Given the description of an element on the screen output the (x, y) to click on. 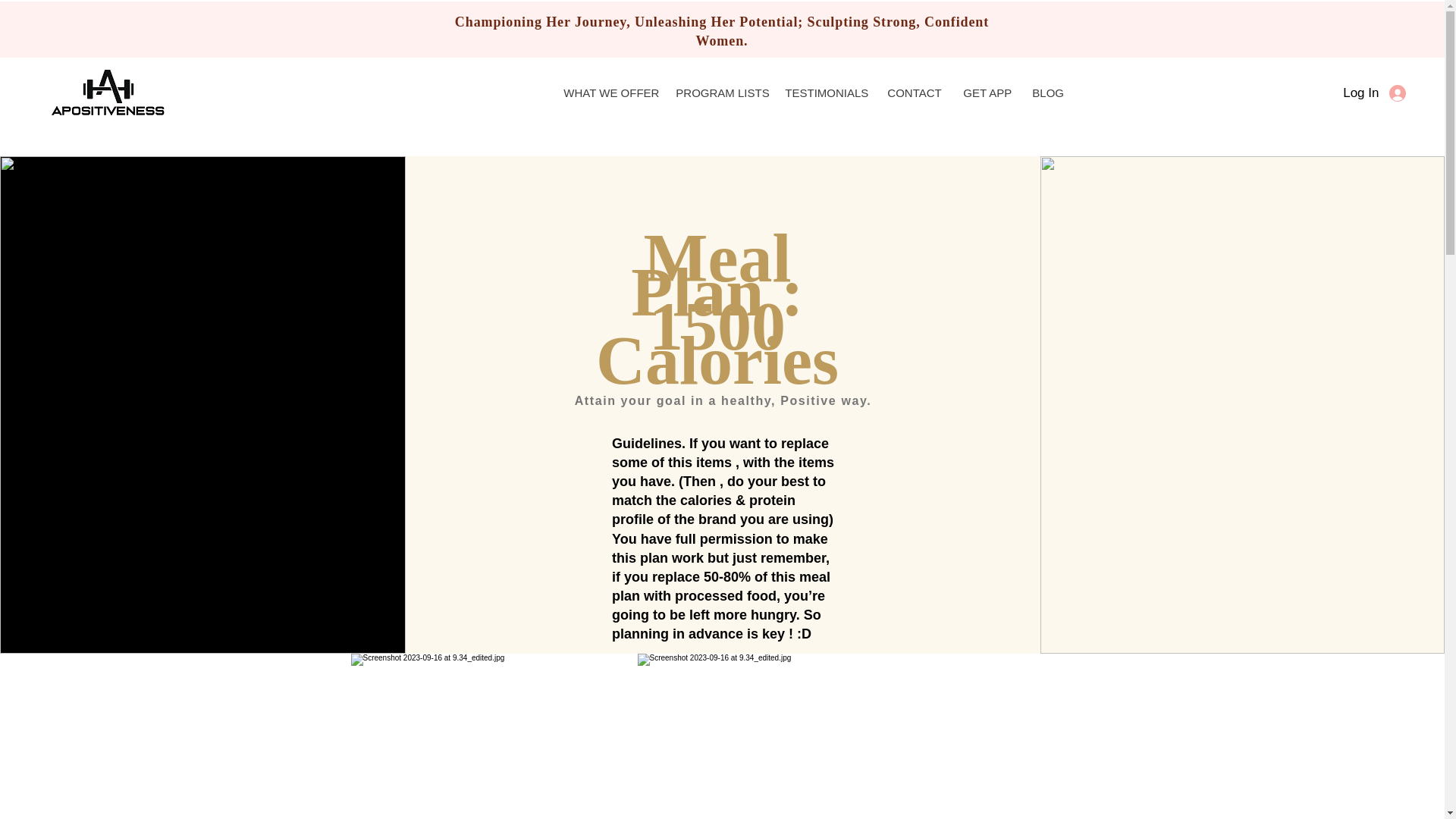
PROGRAM LISTS (718, 92)
CONTACT (914, 92)
BLOG (1046, 92)
WHAT WE OFFER (607, 92)
GET APP (986, 92)
TESTIMONIALS (824, 92)
Log In (1393, 93)
